Given the description of an element on the screen output the (x, y) to click on. 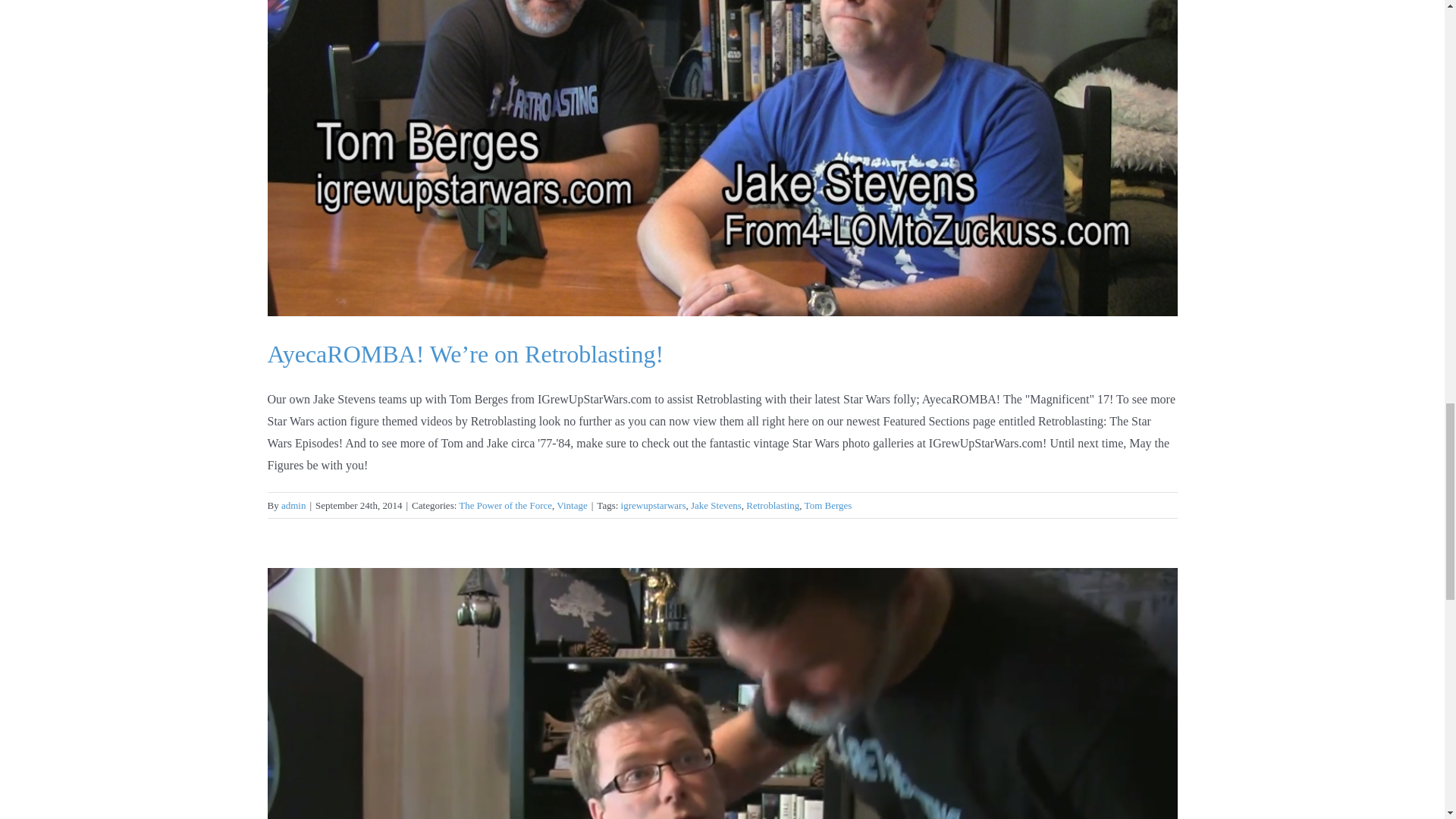
Posts by admin (293, 505)
